Given the description of an element on the screen output the (x, y) to click on. 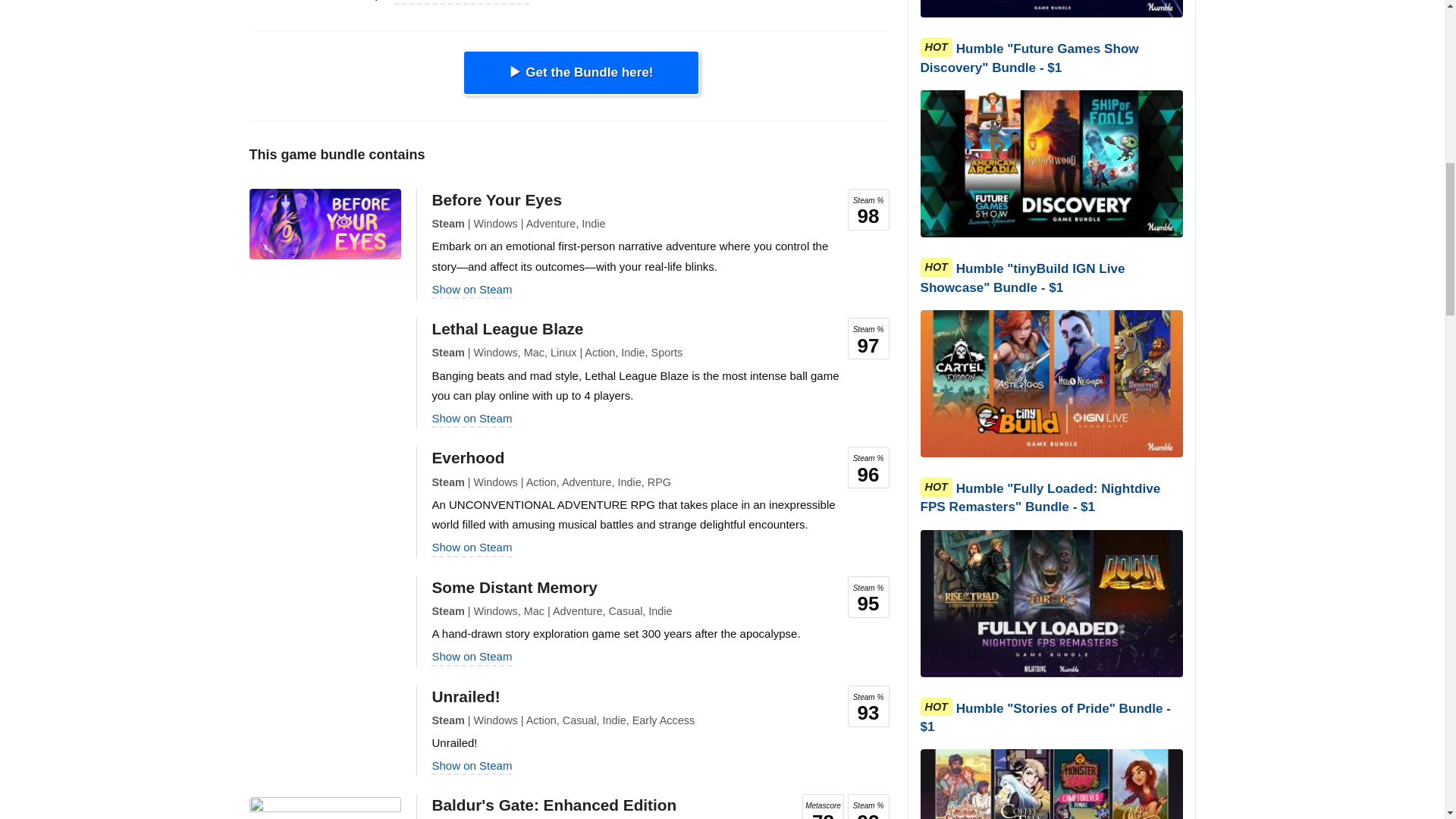
Show on Steam (472, 765)
Humble Choice  bundle (461, 0)
Show on Steam (472, 418)
Buy Platinum Bundle - January 2022 from Fanatical here. (581, 72)
Show on Steam (472, 656)
Show on Steam (472, 288)
Show on Steam (472, 546)
